Given the description of an element on the screen output the (x, y) to click on. 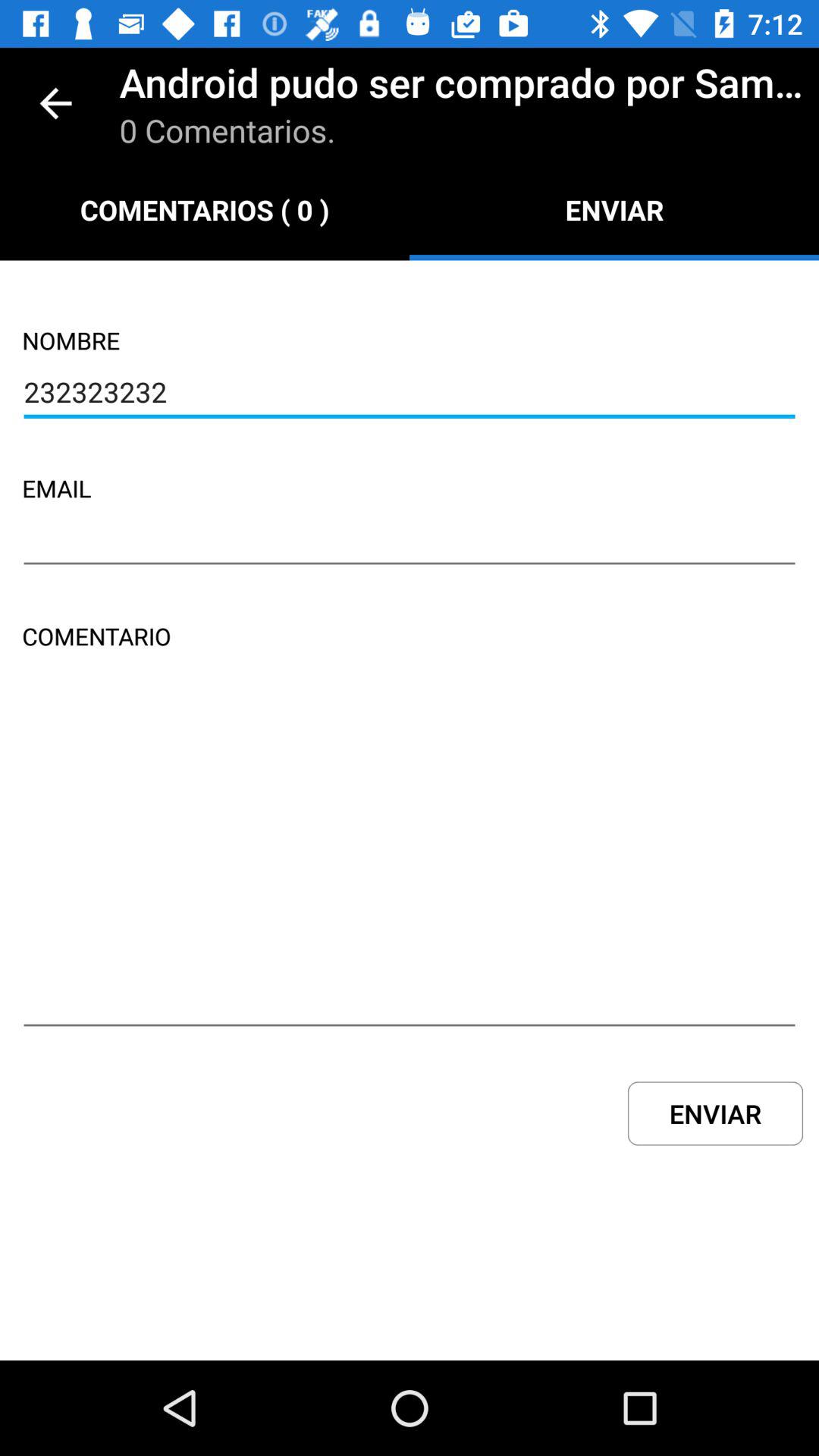
click the icon above the enviar (409, 862)
